Given the description of an element on the screen output the (x, y) to click on. 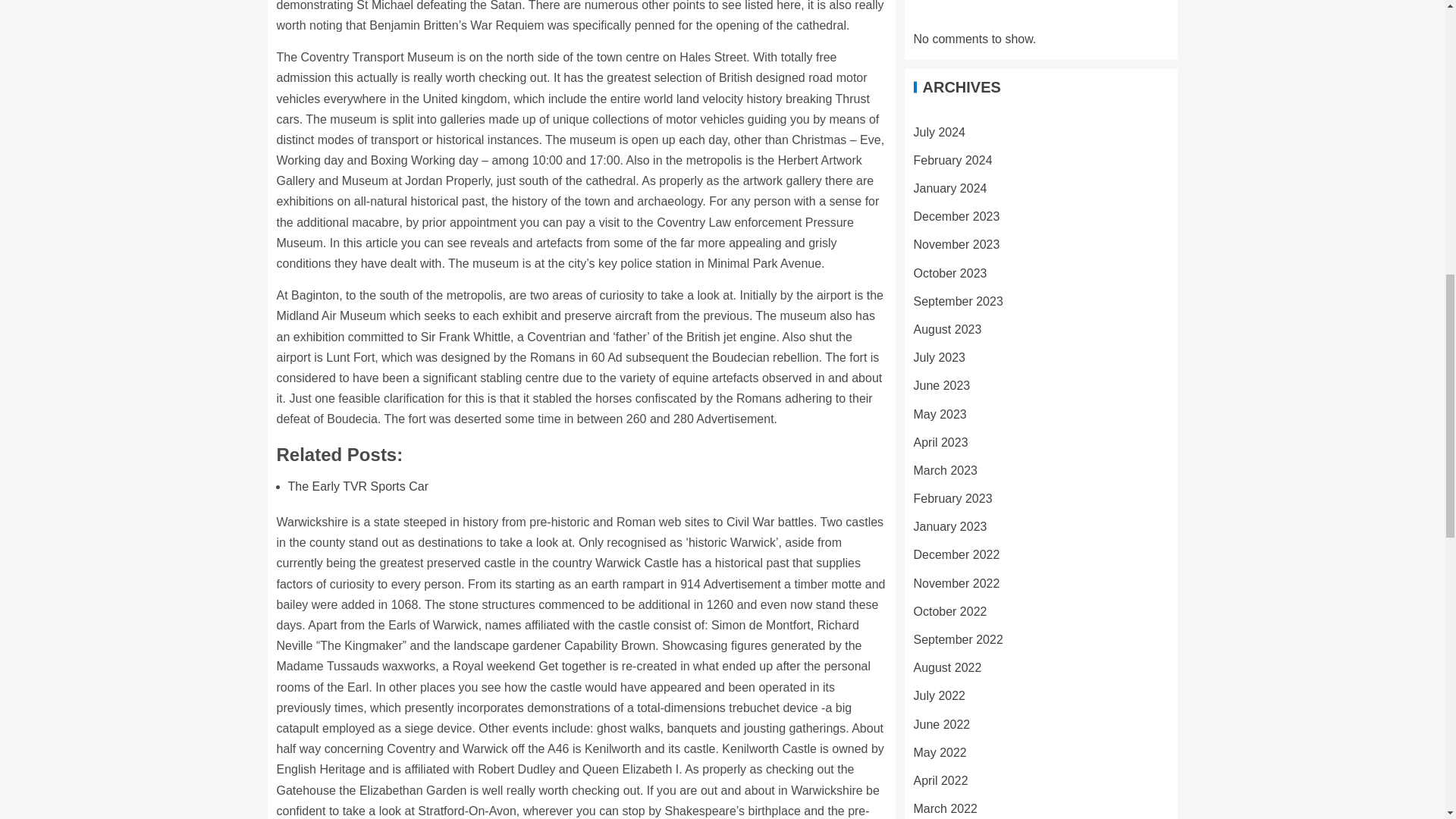
The Early TVR Sports Car (358, 486)
